Given the description of an element on the screen output the (x, y) to click on. 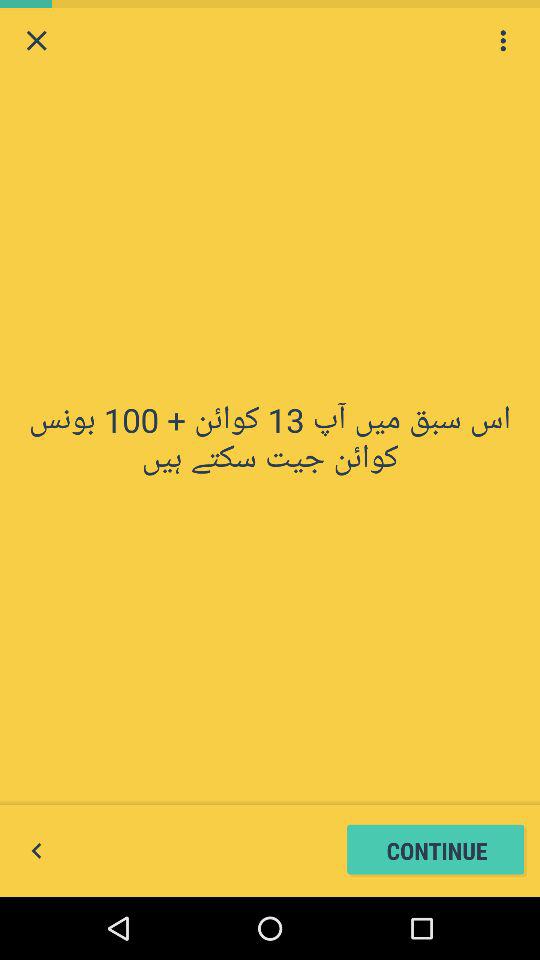
show more options (503, 40)
